Given the description of an element on the screen output the (x, y) to click on. 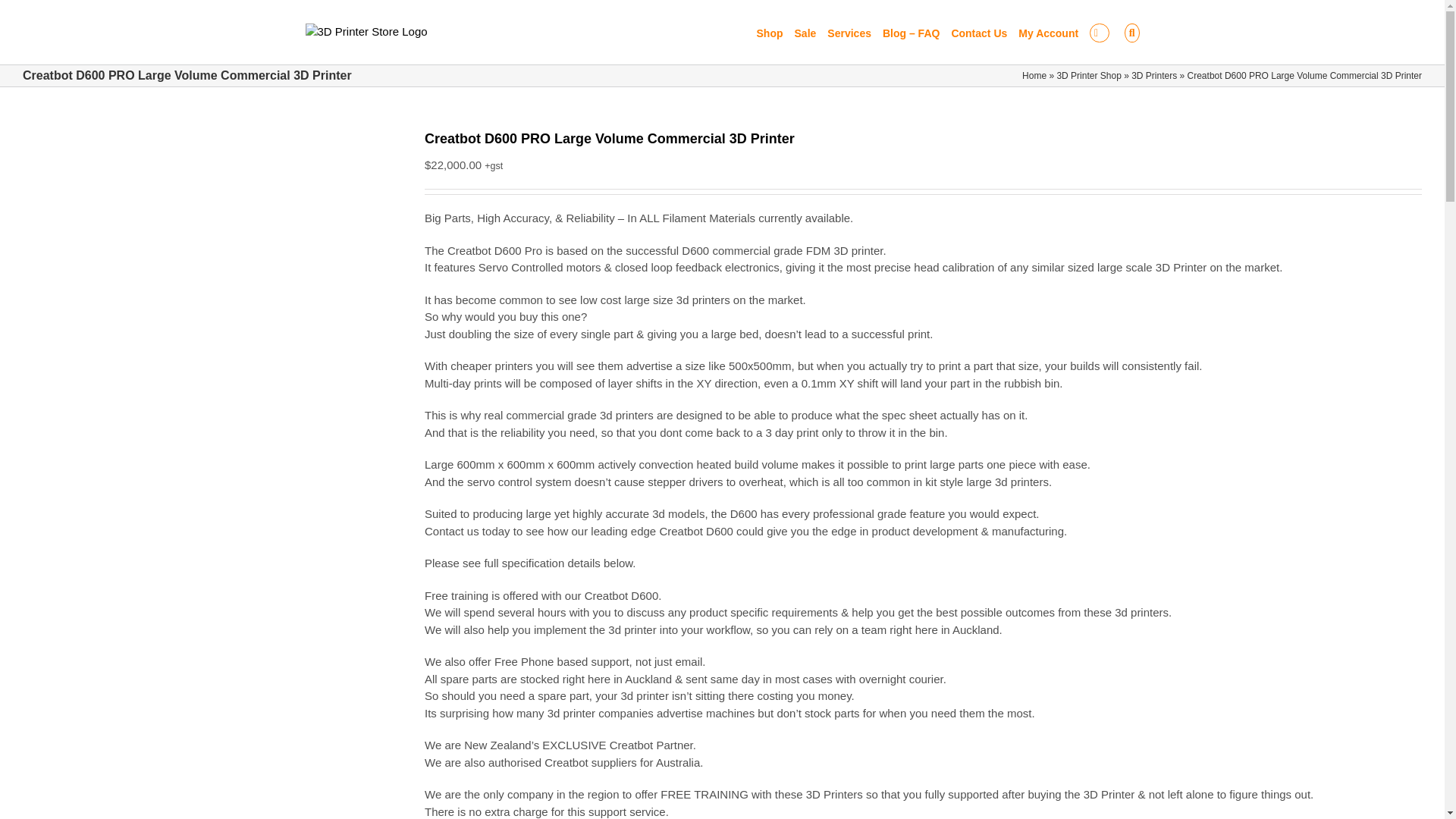
Contact Us (978, 31)
Shop (770, 31)
Search (1132, 31)
